Given the description of an element on the screen output the (x, y) to click on. 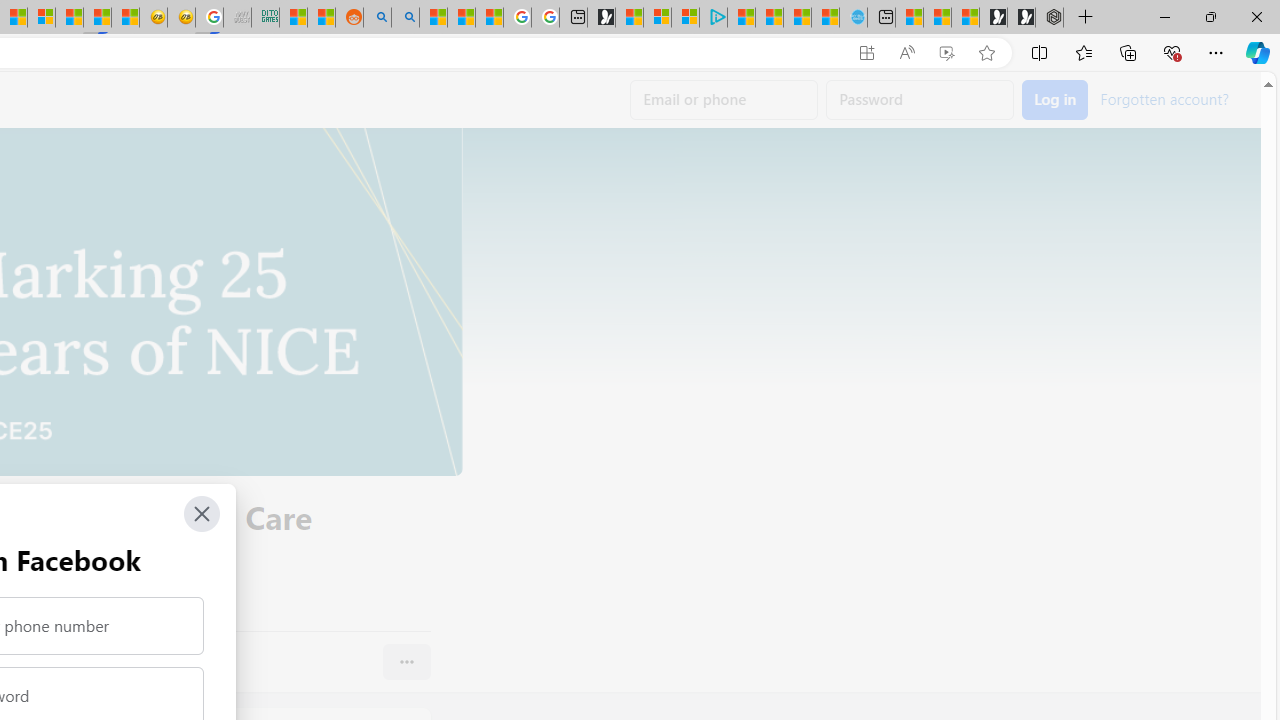
Email or phone (724, 99)
Password (920, 99)
